Given the description of an element on the screen output the (x, y) to click on. 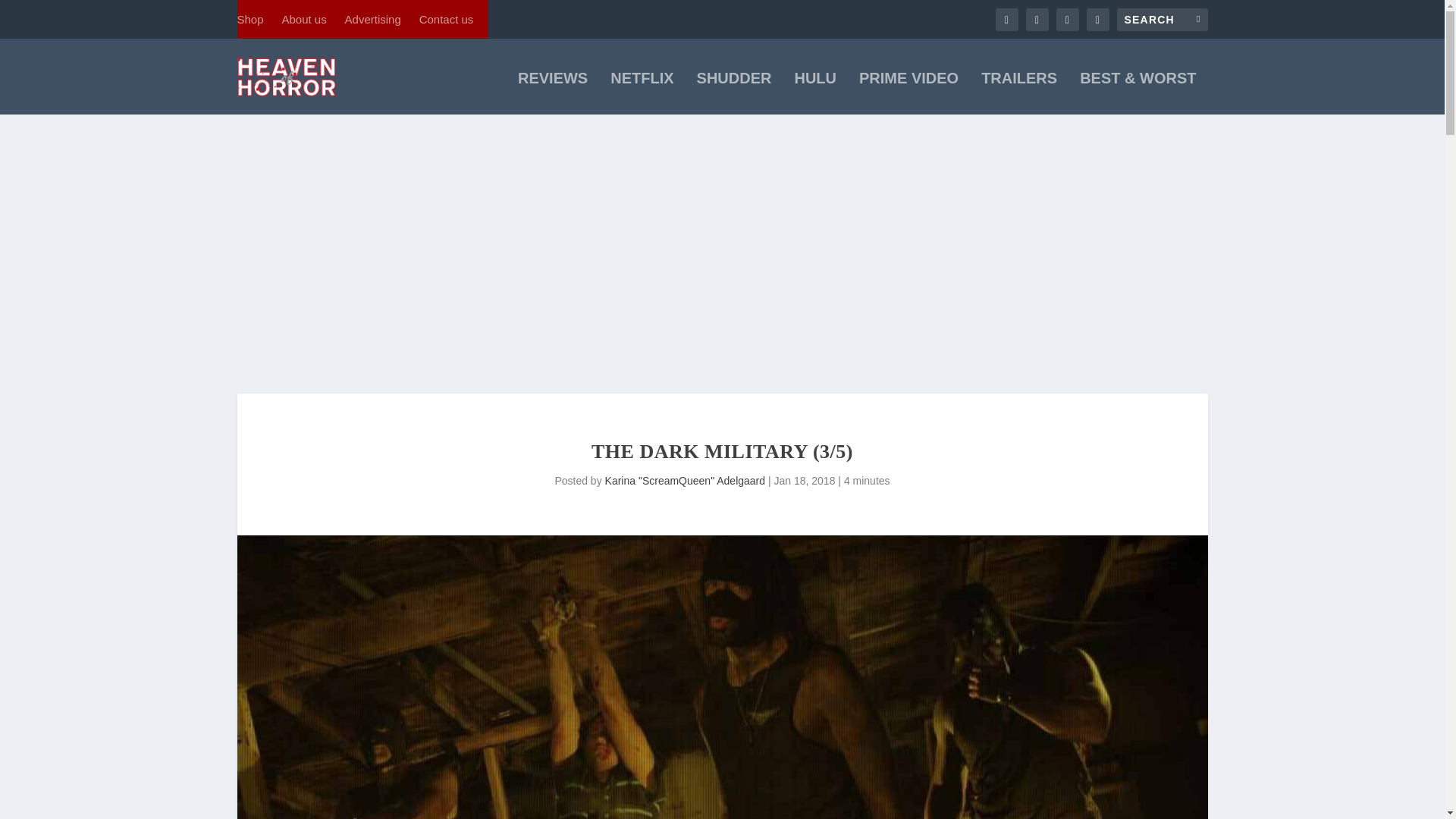
Posts by Karina "ScreamQueen" Adelgaard (685, 480)
Search for: (1161, 18)
Shop (249, 19)
Advertising (373, 19)
SHUDDER (734, 93)
NETFLIX (641, 93)
PRIME VIDEO (908, 93)
About us (303, 19)
REVIEWS (553, 93)
Contact us (446, 19)
TRAILERS (1019, 93)
Karina "ScreamQueen" Adelgaard (685, 480)
HULU (814, 93)
